Given the description of an element on the screen output the (x, y) to click on. 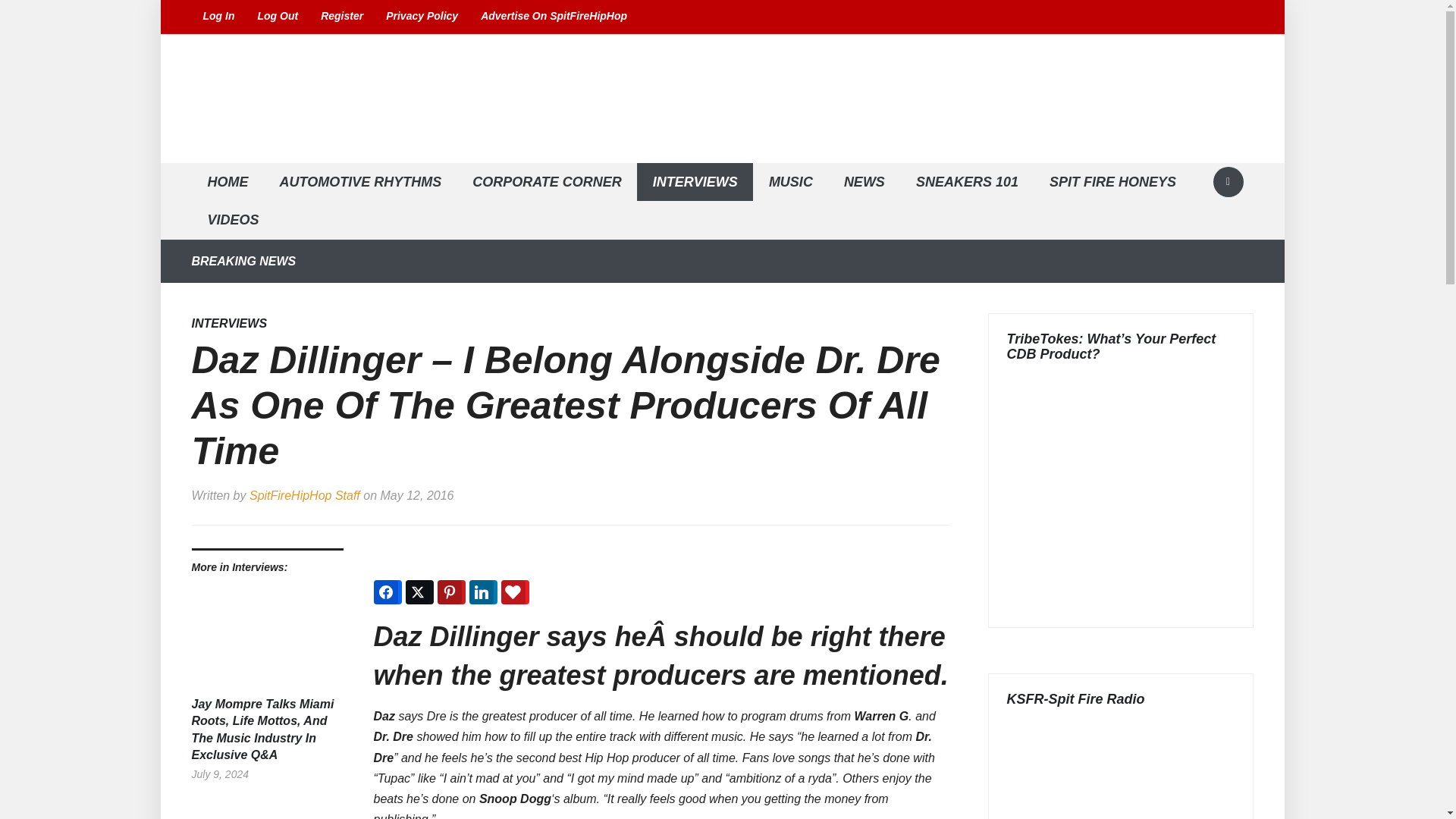
Privacy Policy (421, 16)
CORPORATE CORNER (547, 181)
Log In (218, 16)
Advertise On SpitFireHipHop (553, 16)
HOME (226, 181)
Search (1227, 182)
INTERVIEWS (694, 181)
Log Out (277, 16)
MUSIC (790, 181)
AUTOMOTIVE RHYTHMS (360, 181)
